Given the description of an element on the screen output the (x, y) to click on. 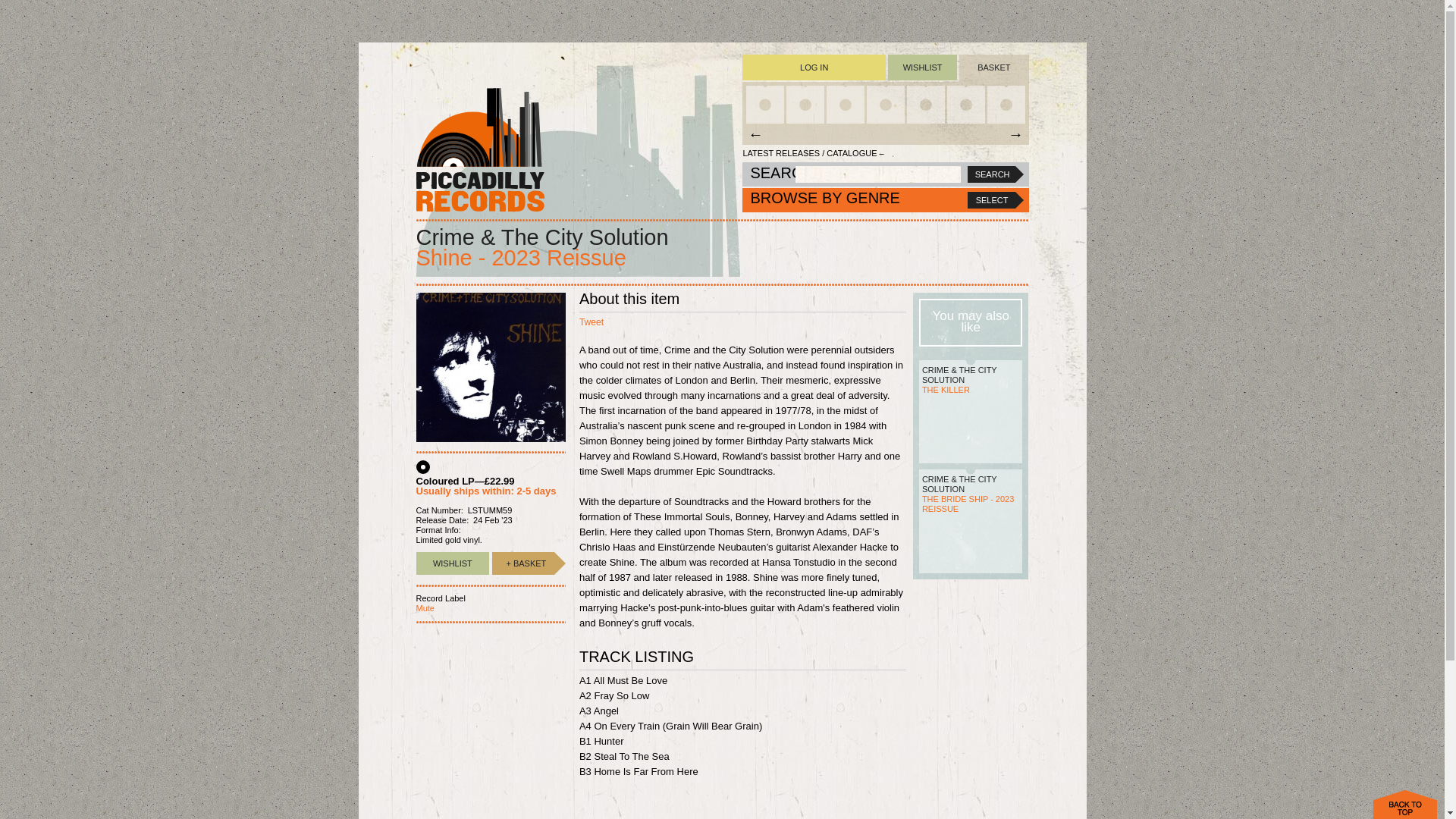
WISHLIST (451, 563)
Tweet (591, 321)
Item usually despatched within 2-5 days (523, 563)
Search for other items on Mute (423, 607)
Usually ships within: 2-5 days (485, 490)
Mute (423, 607)
Piccadilly Records (478, 149)
